Given the description of an element on the screen output the (x, y) to click on. 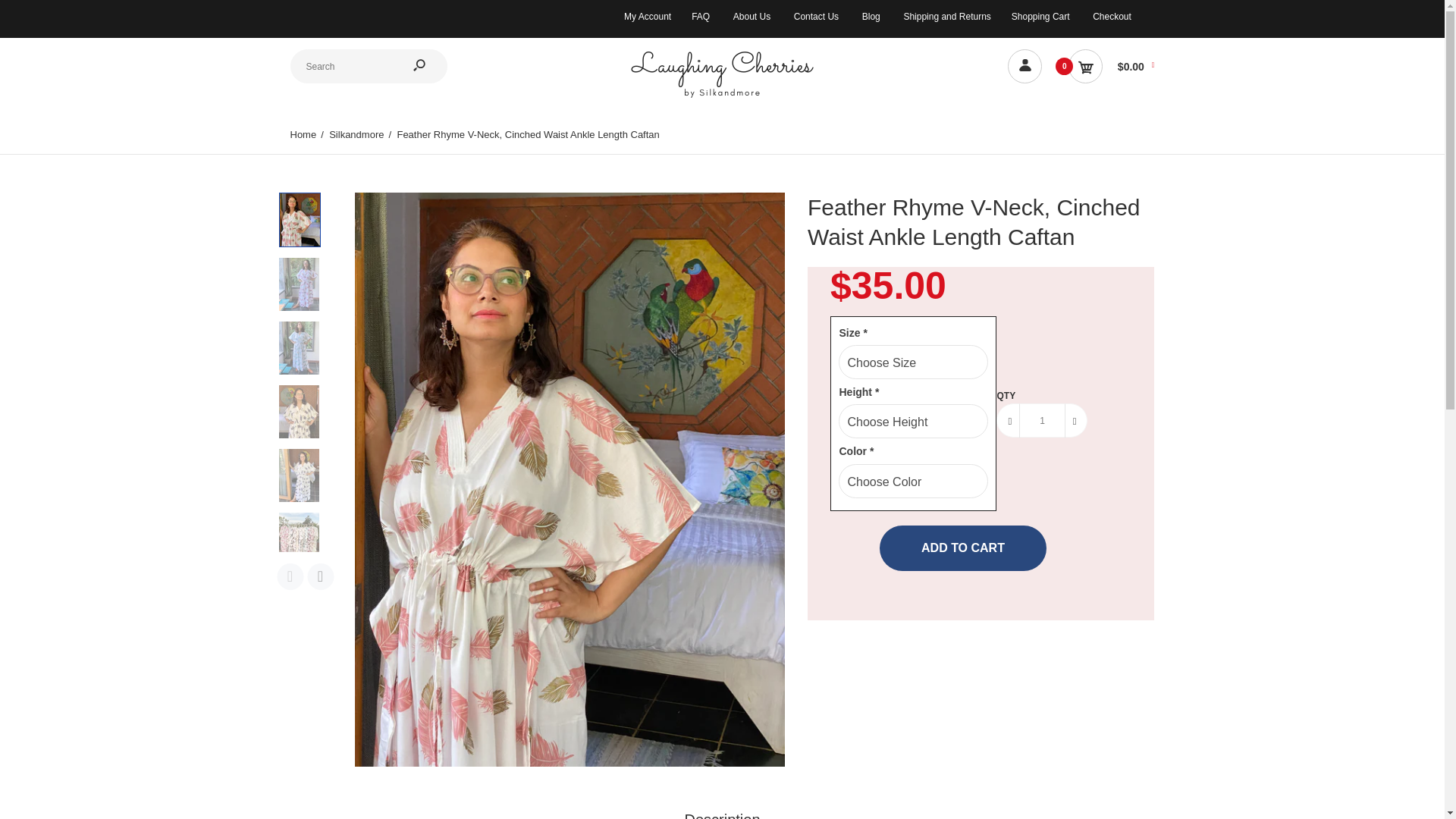
1 (1041, 420)
Laughing Cherries (721, 74)
Add to cart (962, 547)
Laughing Cherries (721, 95)
